Given the description of an element on the screen output the (x, y) to click on. 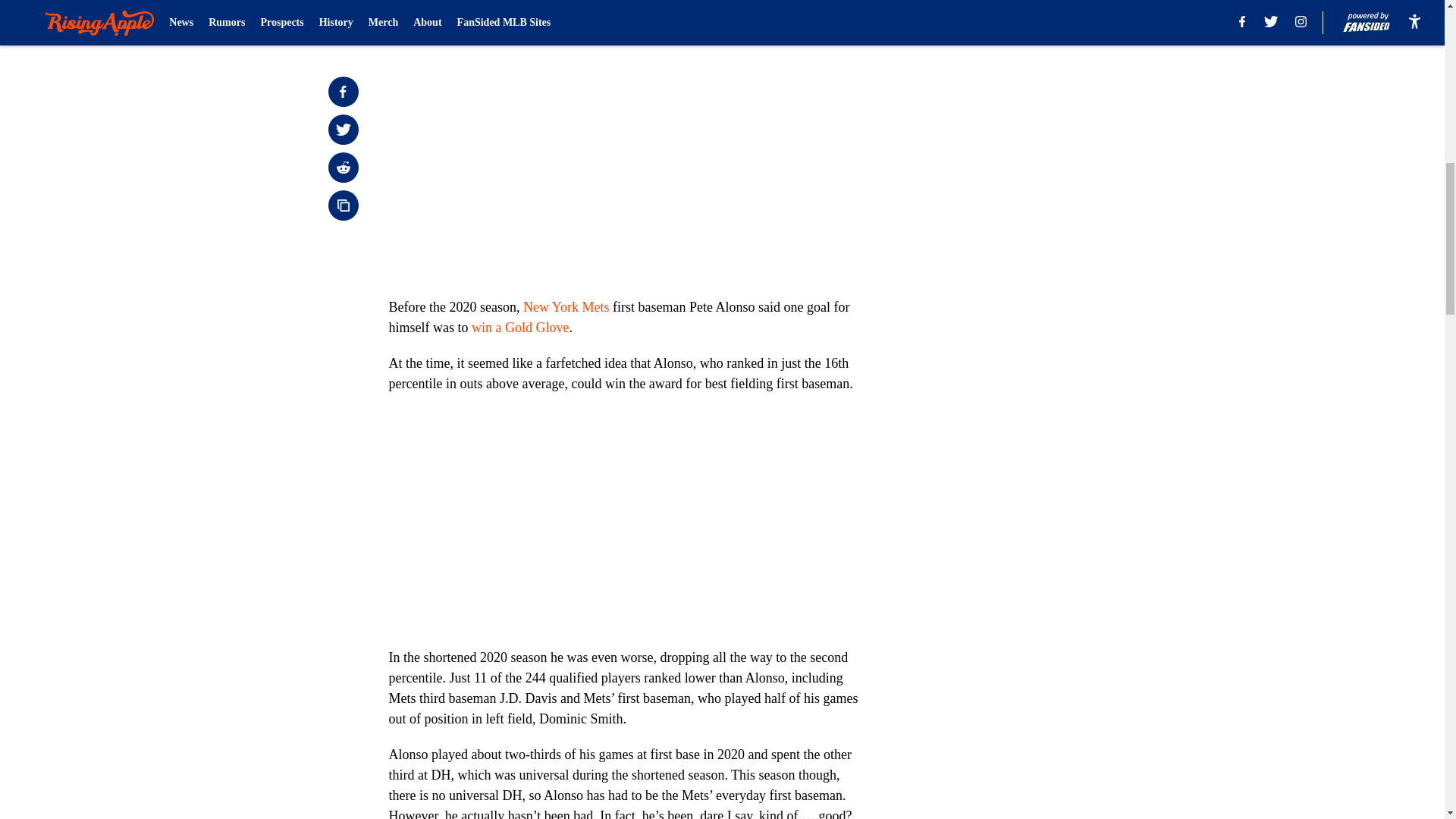
win a Gold Glove (520, 327)
New York Mets (566, 306)
